Given the description of an element on the screen output the (x, y) to click on. 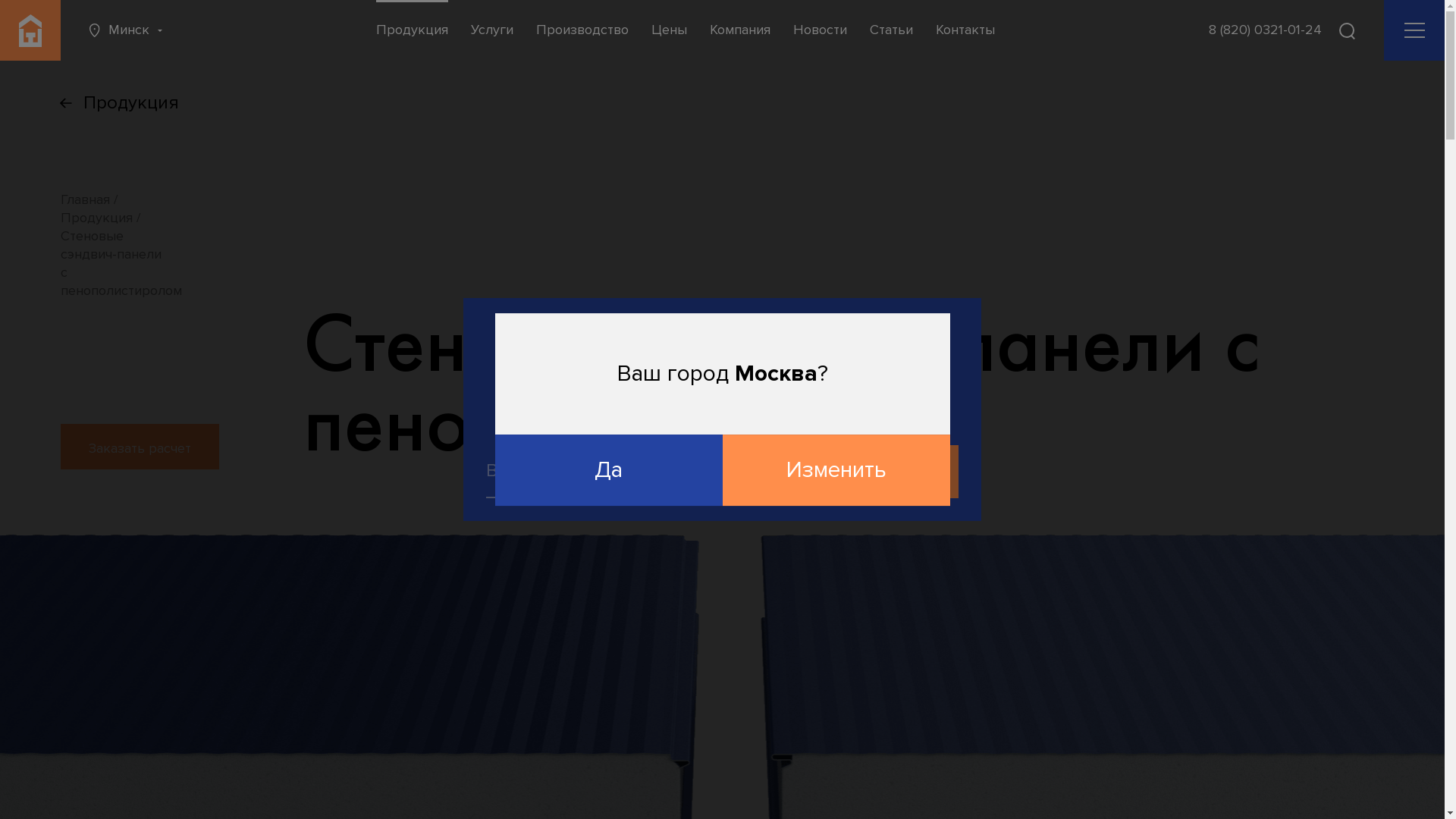
8 (820) 0321-01-24 Element type: text (1264, 30)
